Given the description of an element on the screen output the (x, y) to click on. 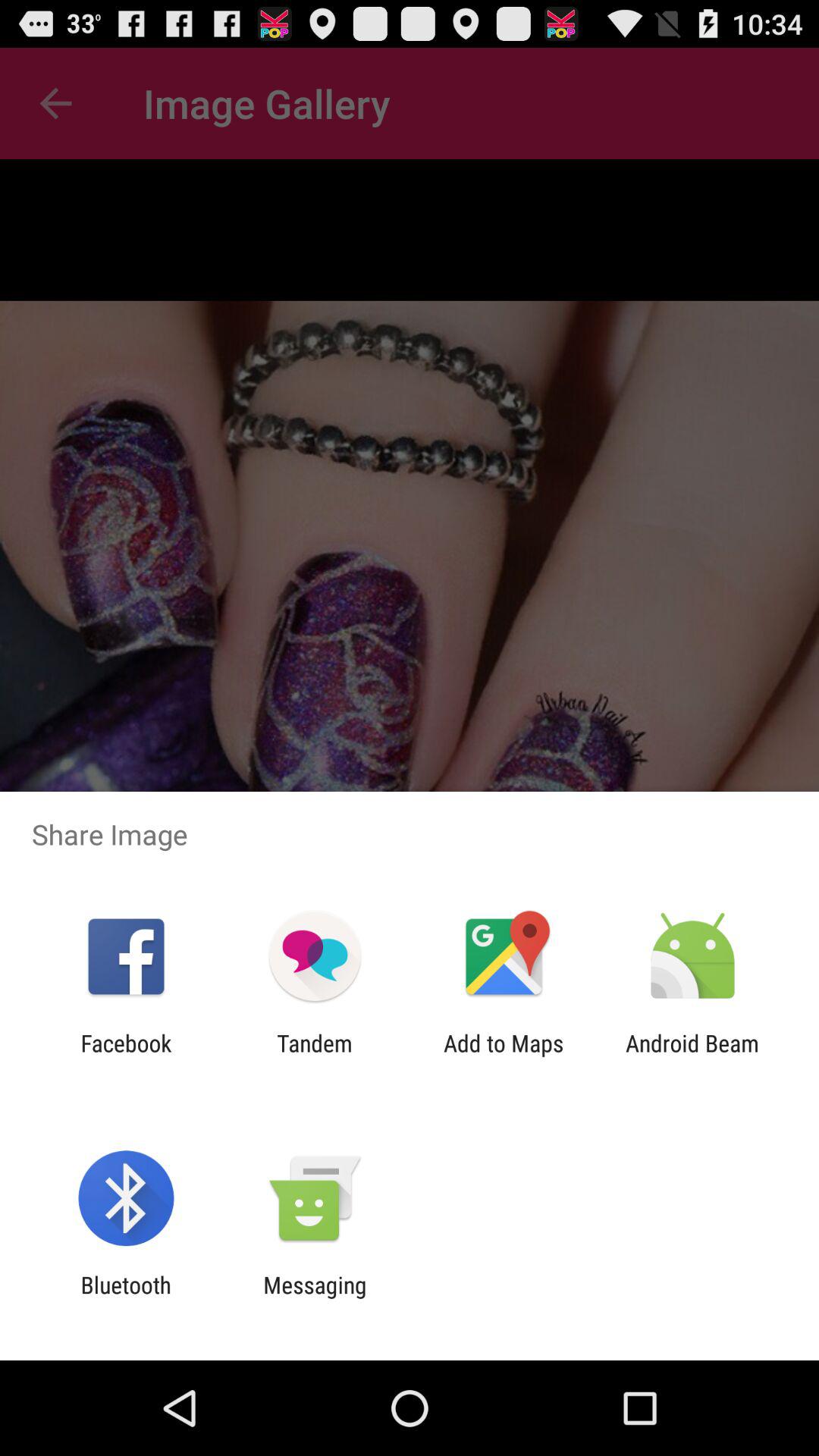
swipe to the add to maps app (503, 1056)
